Given the description of an element on the screen output the (x, y) to click on. 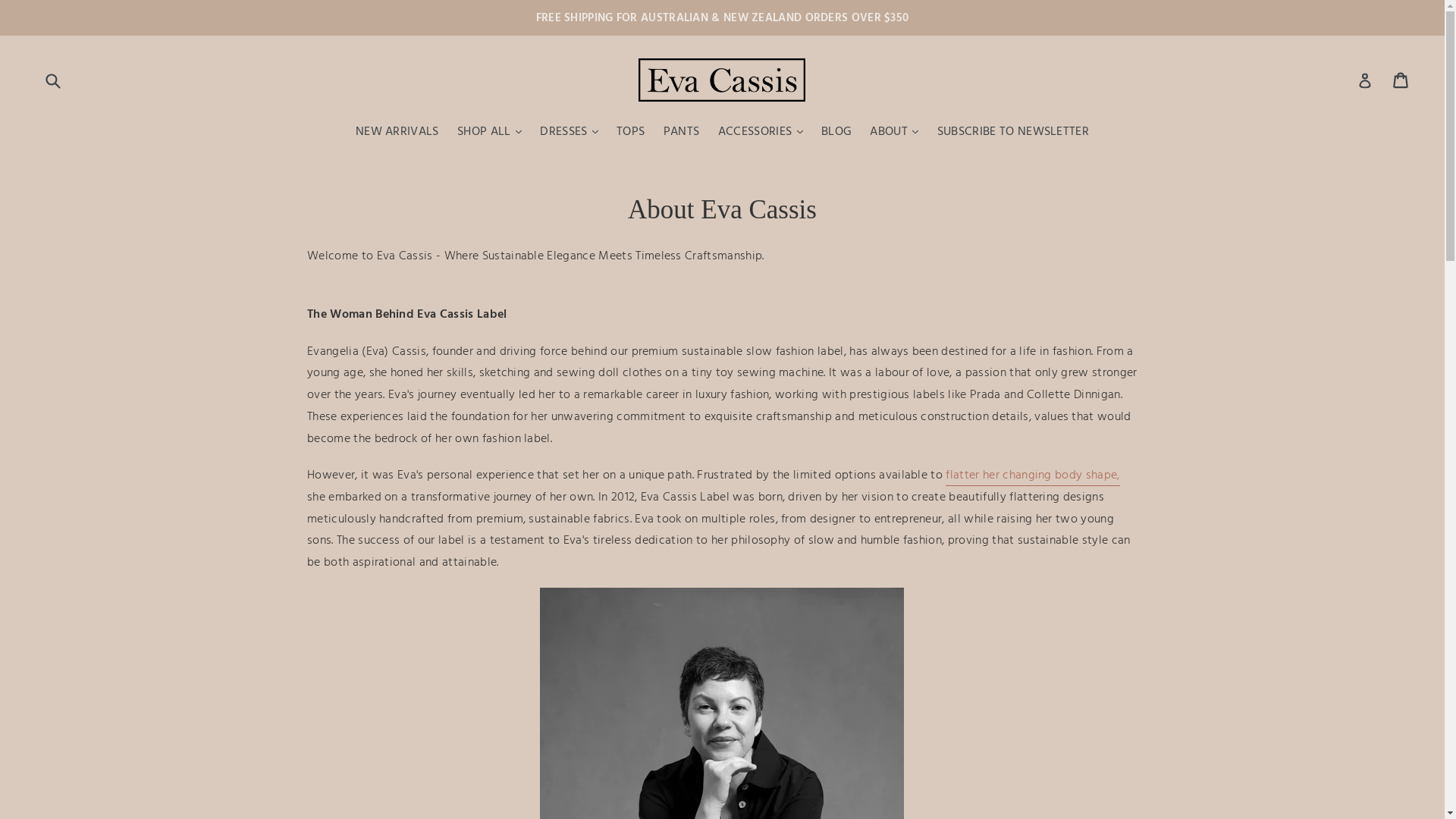
Log in Element type: text (1364, 79)
SUBSCRIBE TO NEWSLETTER Element type: text (1012, 132)
Submit Element type: text (51, 79)
NEW ARRIVALS Element type: text (397, 132)
FREE SHIPPING FOR AUSTRALIAN & NEW ZEALAND ORDERS OVER $350 Element type: text (722, 17)
PANTS Element type: text (681, 132)
BLOG Element type: text (836, 132)
flatter her changing body shape, Element type: text (1032, 475)
TOPS Element type: text (630, 132)
Cart Element type: text (1401, 79)
